Given the description of an element on the screen output the (x, y) to click on. 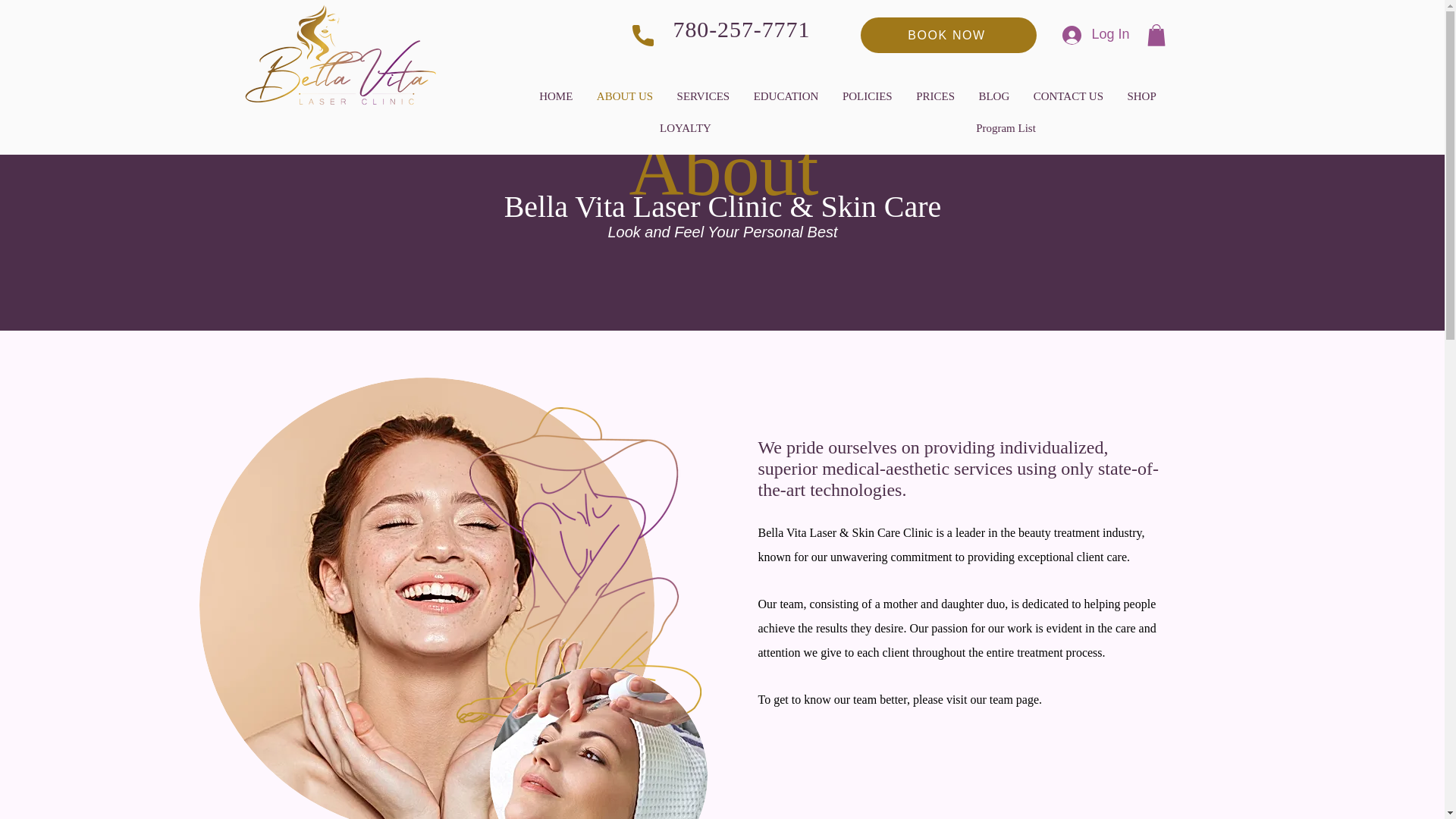
Program List (1006, 127)
SHOP (1142, 95)
POLICIES (866, 95)
HOME (556, 95)
EDUCATION (785, 95)
PRICES (934, 95)
ABOUT US (625, 95)
CONTACT US (1068, 95)
SERVICES (703, 95)
Log In (1095, 34)
